Given the description of an element on the screen output the (x, y) to click on. 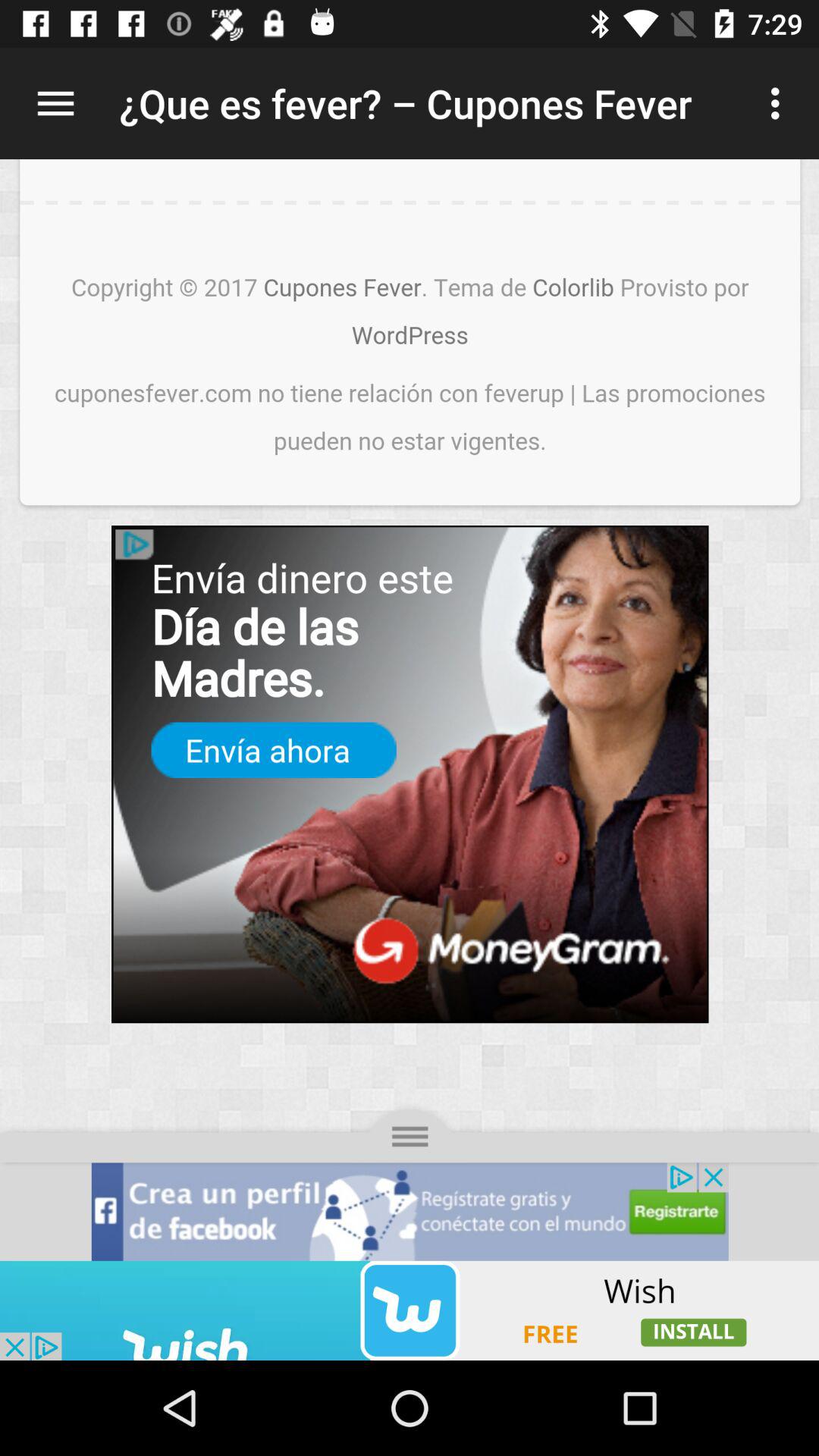
view advertisement (409, 709)
